Given the description of an element on the screen output the (x, y) to click on. 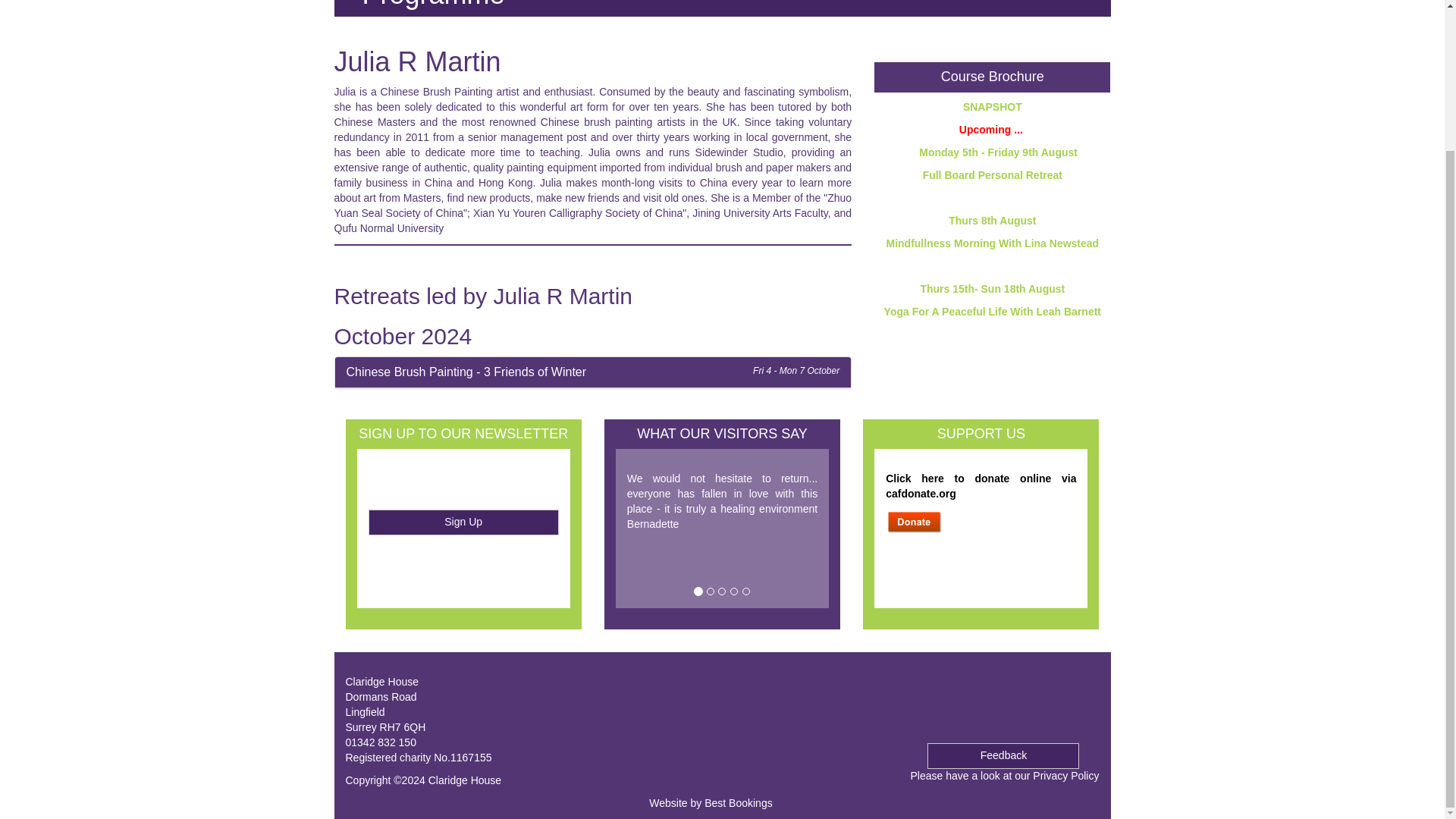
Sign Up (463, 522)
Feedback (1002, 755)
Course Brochure (991, 76)
Privacy Policy (1065, 775)
